Given the description of an element on the screen output the (x, y) to click on. 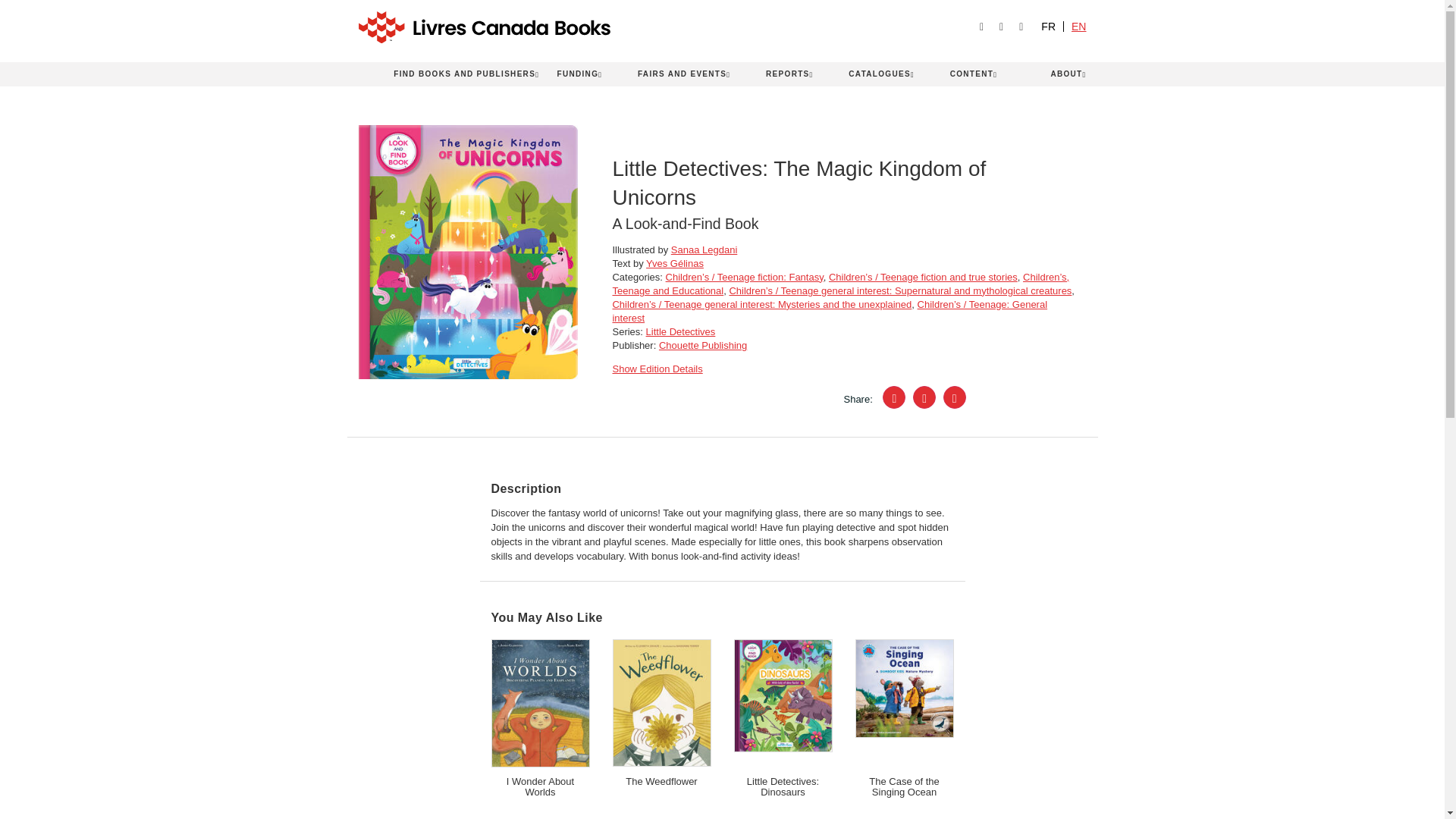
FIND BOOKS AND PUBLISHERS (465, 74)
FAIRS AND EVENTS (683, 74)
Livres Canada Books (596, 27)
REPORTS (788, 74)
FUNDING (579, 74)
FR (1048, 26)
EN (1078, 26)
